Given the description of an element on the screen output the (x, y) to click on. 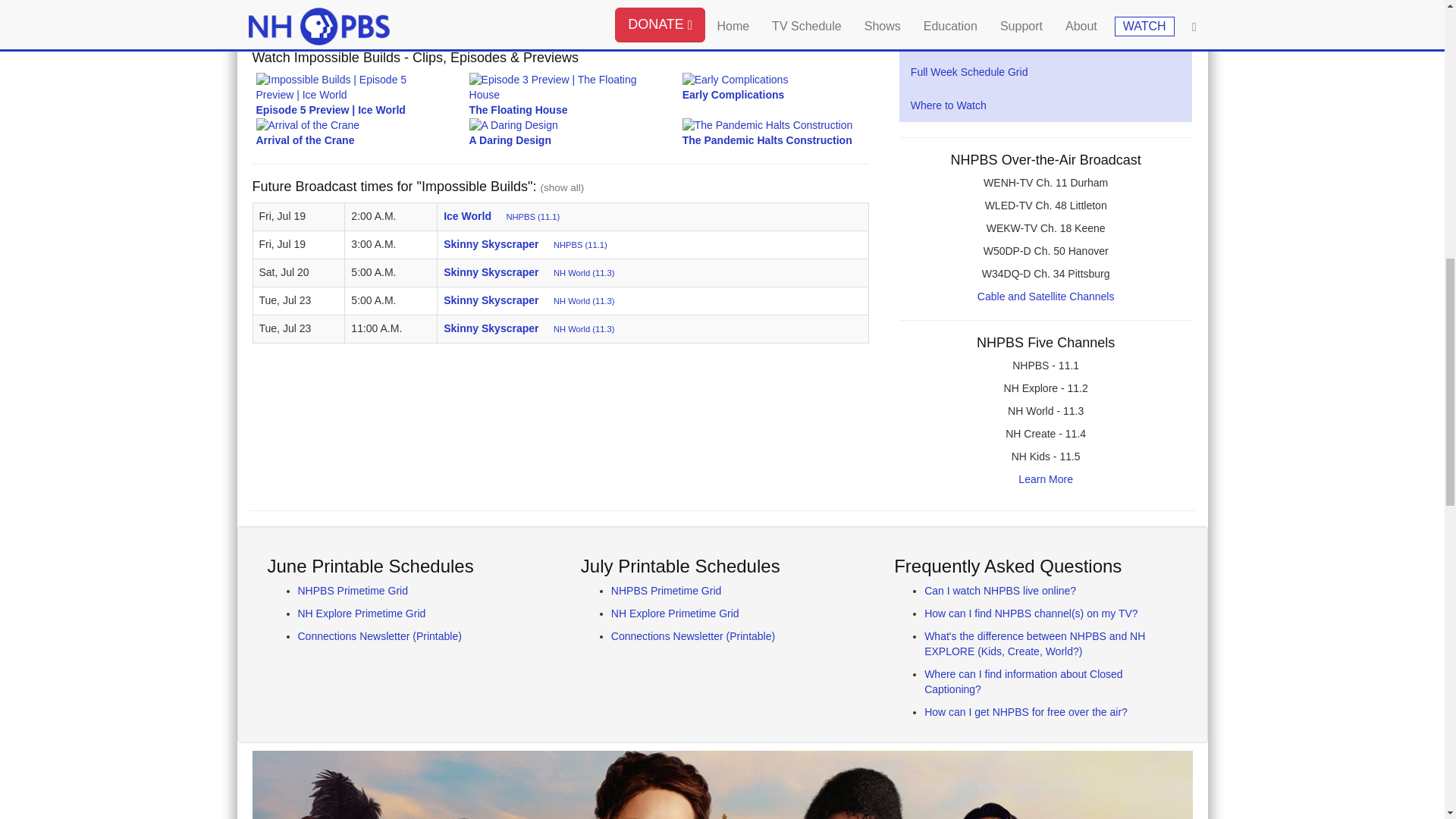
 This airtime is broadcast on WORLD   (583, 272)
The Floating House (560, 94)
Skinny Skyscraper (492, 244)
The Pandemic Halts Construction (773, 131)
 This airtime is broadcast on WORLD   (583, 300)
 This airtime is broadcast on WORLD   (583, 328)
 This airtime is broadcast on NHPBS  (532, 216)
All shows that begin with "I" (349, 9)
Skinny Skyscraper (492, 272)
Ice World (469, 215)
 This airtime is broadcast on NHPBS  (580, 244)
A Daring Design (560, 131)
Early Complications (773, 86)
Arrival of the Crane (347, 131)
